Given the description of an element on the screen output the (x, y) to click on. 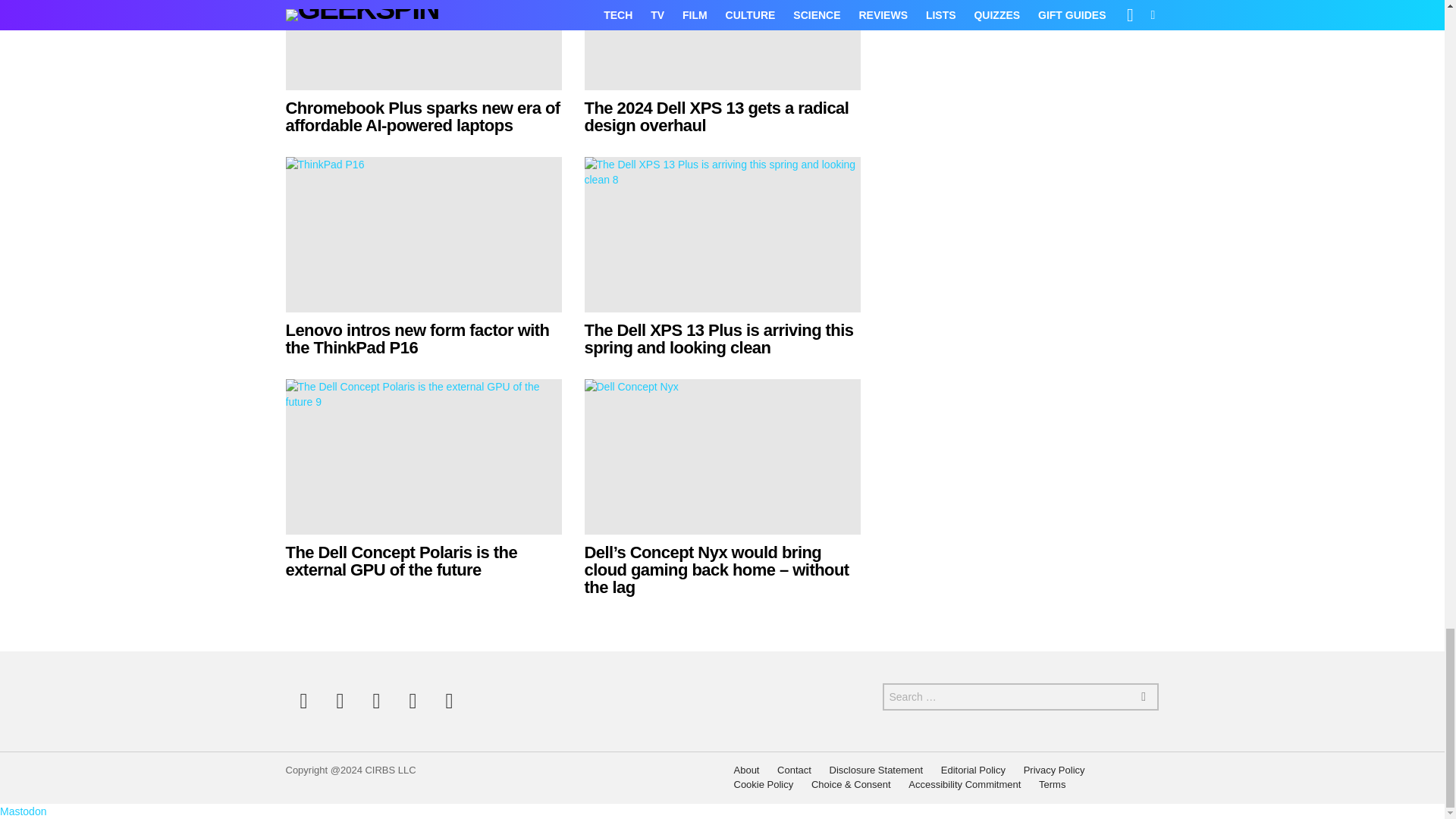
The 2024 Dell XPS 13 gets a radical design overhaul (721, 45)
The Dell Concept Polaris is the external GPU of the future (400, 560)
Lenovo intros new form factor with the ThinkPad P16 (422, 234)
Twitter (339, 700)
instagram (376, 700)
Facebook (303, 700)
